Given the description of an element on the screen output the (x, y) to click on. 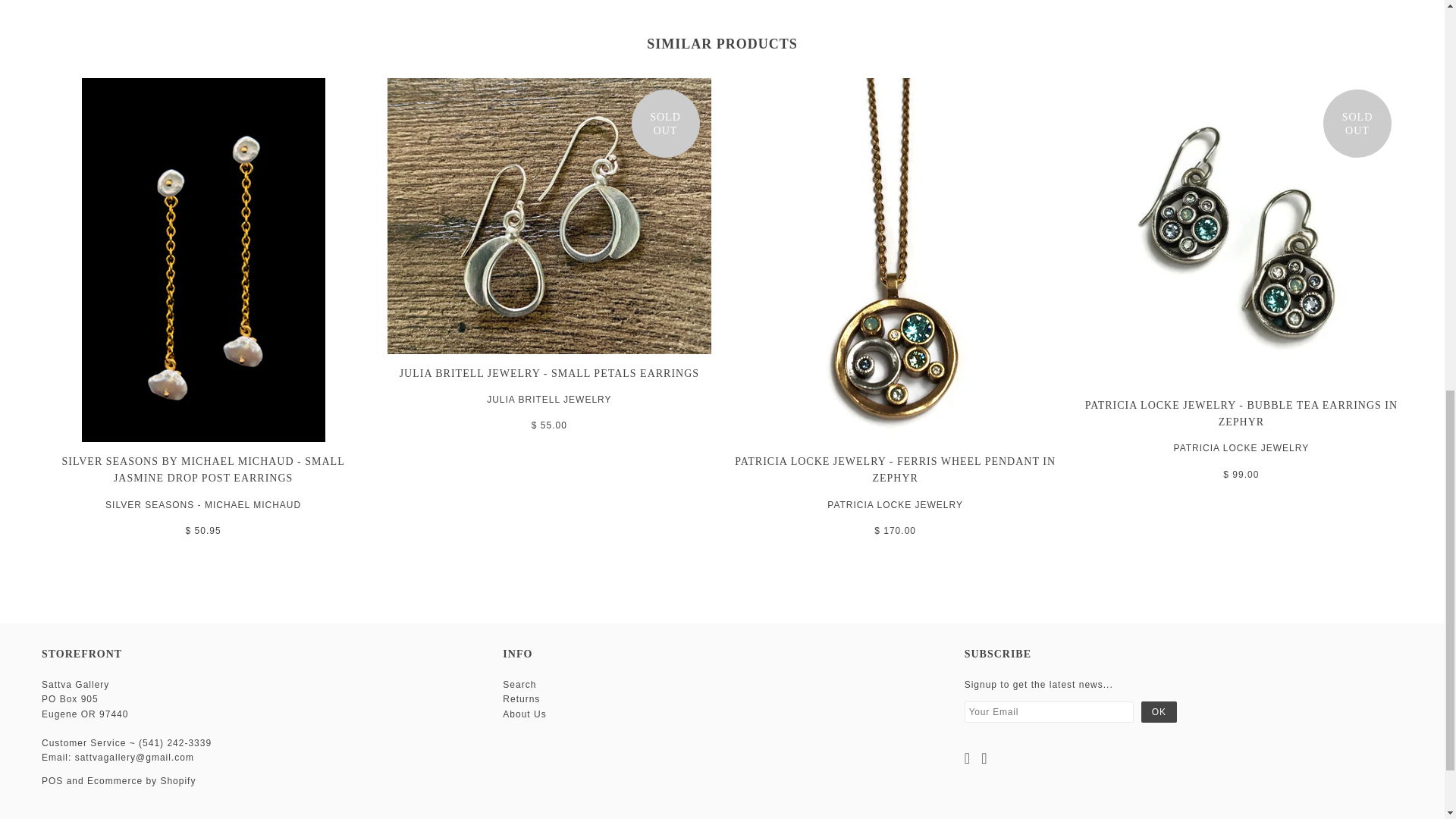
OK (1158, 711)
